Given the description of an element on the screen output the (x, y) to click on. 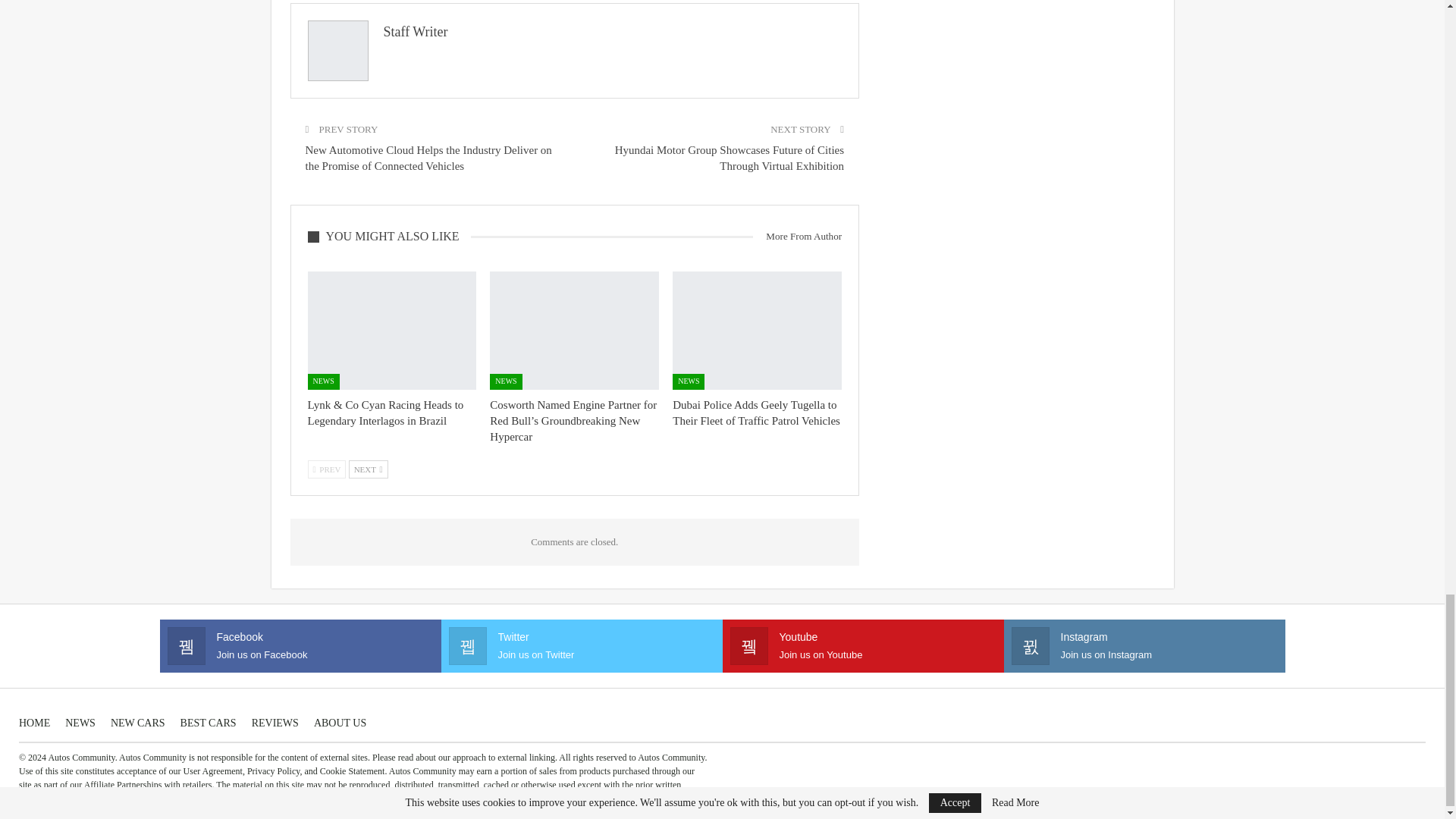
Next (368, 469)
Previous (326, 469)
